Given the description of an element on the screen output the (x, y) to click on. 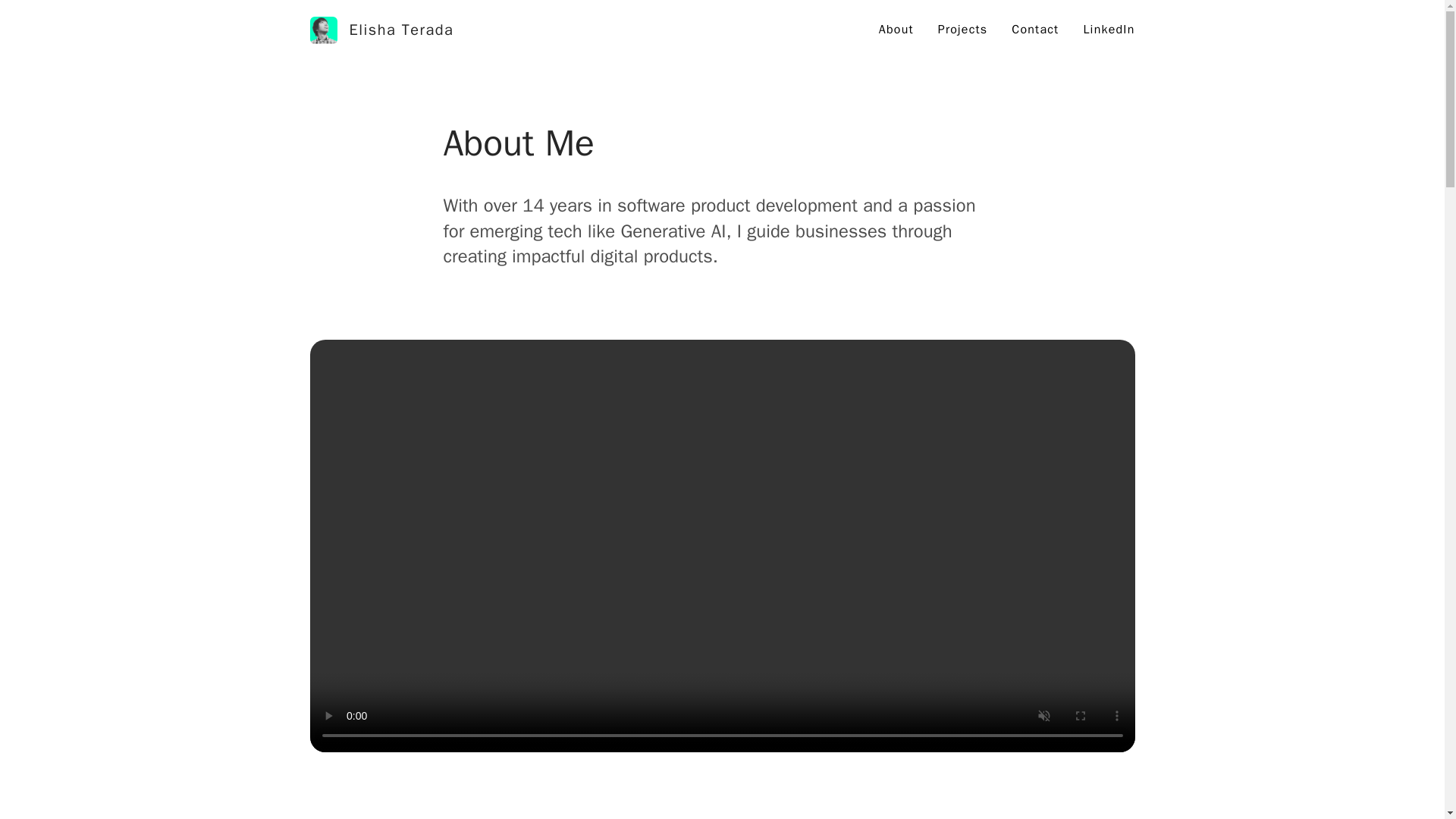
LinkedIn (1108, 29)
About (896, 29)
Elisha Terada (380, 30)
Contact (1034, 29)
Projects (962, 29)
